Given the description of an element on the screen output the (x, y) to click on. 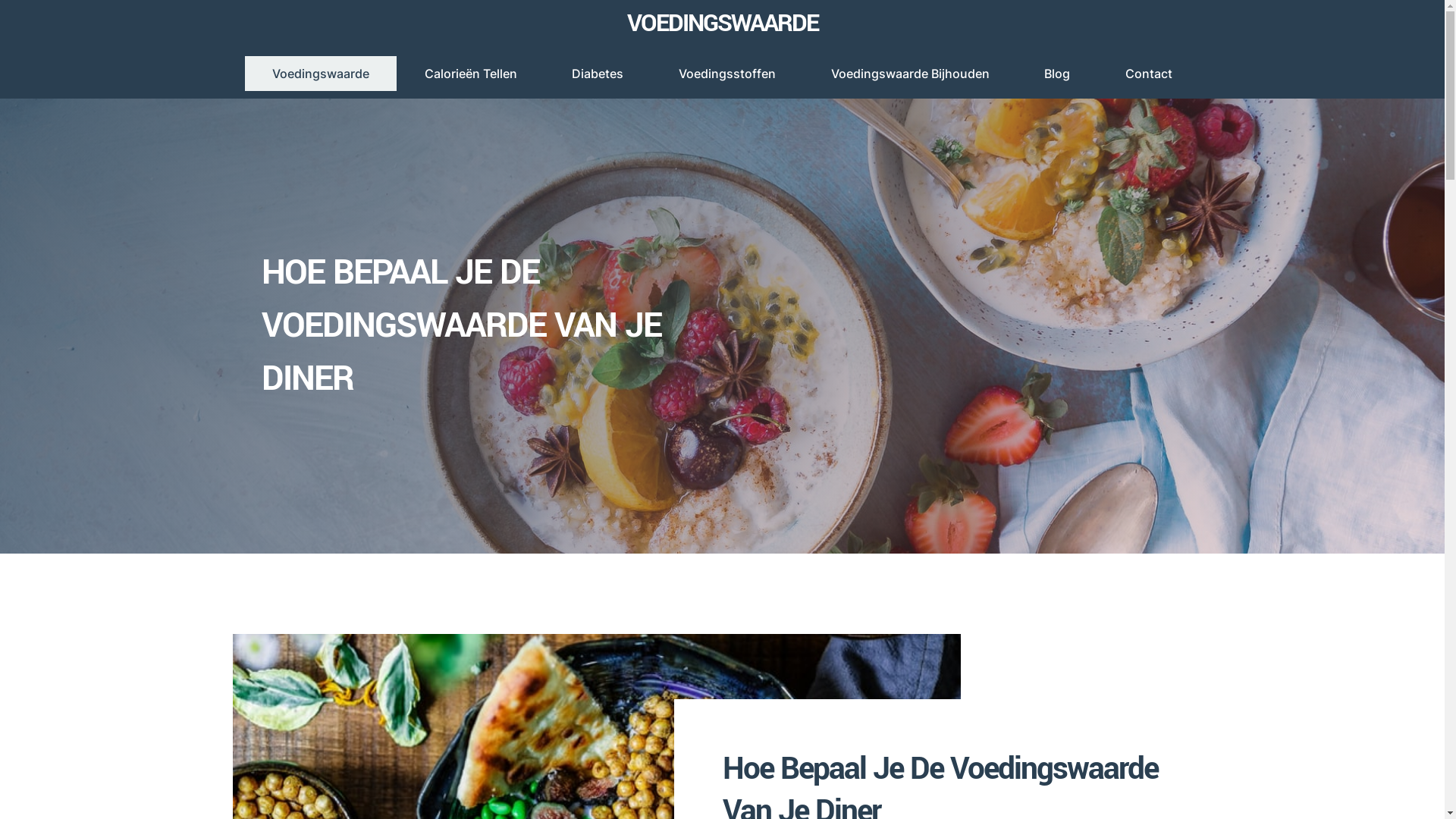
Voedingswaarde Element type: text (320, 73)
Blog Element type: text (1057, 73)
Contact Element type: text (1149, 73)
Voedingswaarde Bijhouden Element type: text (909, 73)
Voedingsstoffen Element type: text (727, 73)
VOEDINGSWAARDE Element type: text (721, 23)
Diabetes Element type: text (597, 73)
